Given the description of an element on the screen output the (x, y) to click on. 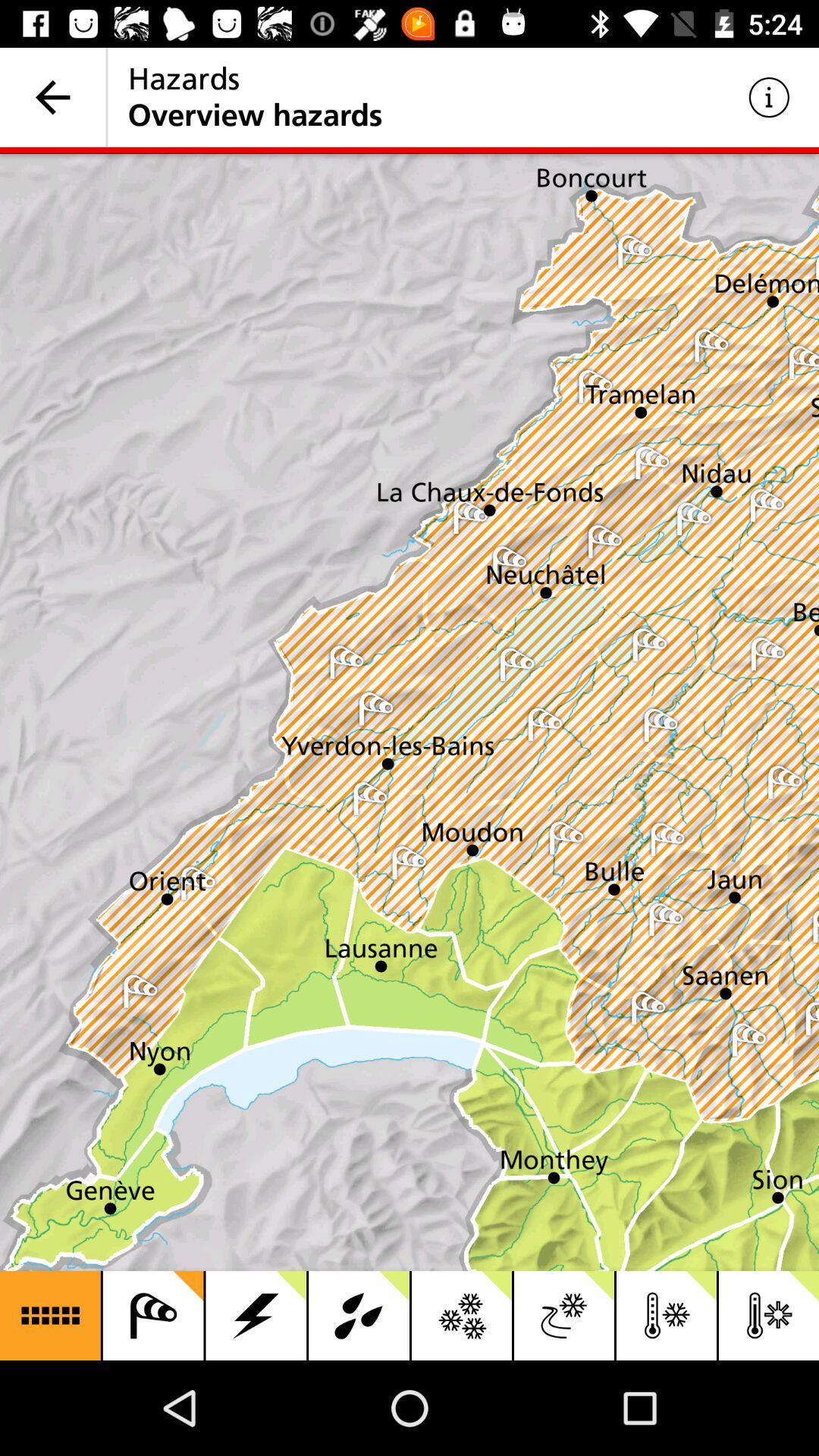
press the icon to the right of the hazards (769, 97)
